Given the description of an element on the screen output the (x, y) to click on. 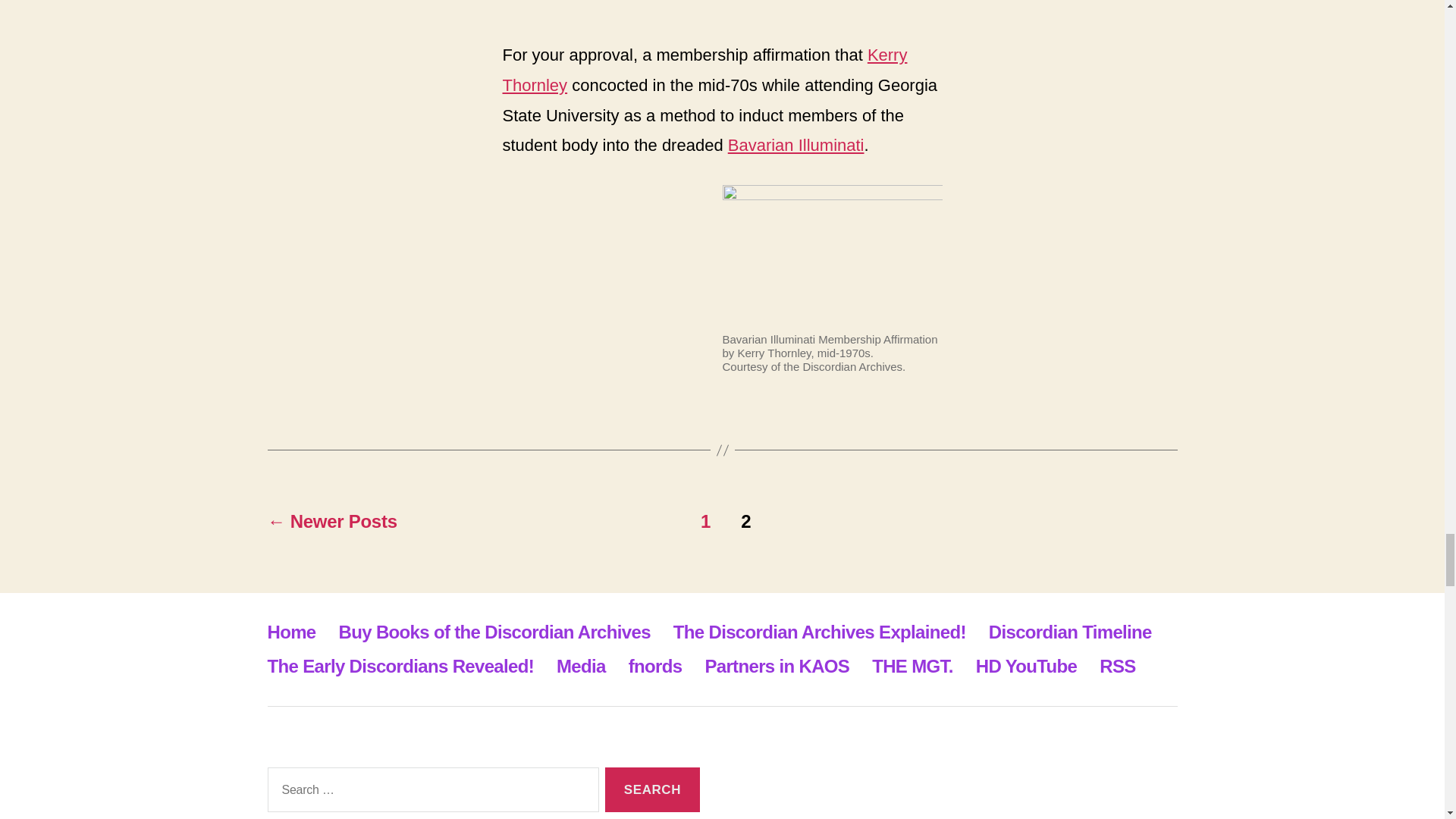
Search (651, 789)
Bavarian Illuminati Membership Affirmation by Kerry Thornley (832, 249)
Search (651, 789)
